Given the description of an element on the screen output the (x, y) to click on. 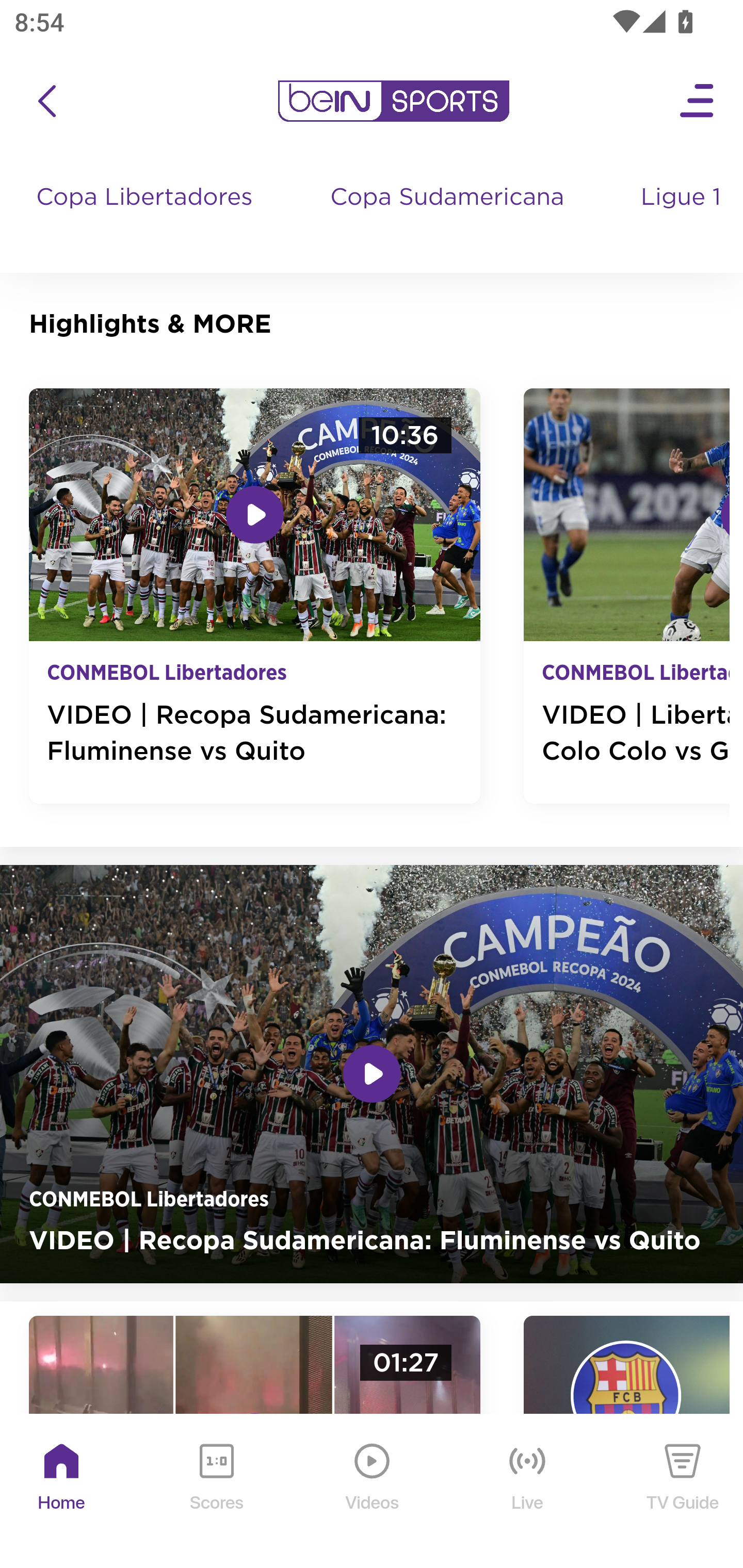
en-us?platform=mobile_android bein logo (392, 101)
icon back (46, 101)
Open Menu Icon (697, 101)
Copa Libertadores (146, 216)
Copa Sudamericana (448, 216)
Ligue 1 (682, 216)
Home Home Icon Home (61, 1491)
Scores Scores Icon Scores (216, 1491)
Videos Videos Icon Videos (372, 1491)
TV Guide TV Guide Icon TV Guide (682, 1491)
